Given the description of an element on the screen output the (x, y) to click on. 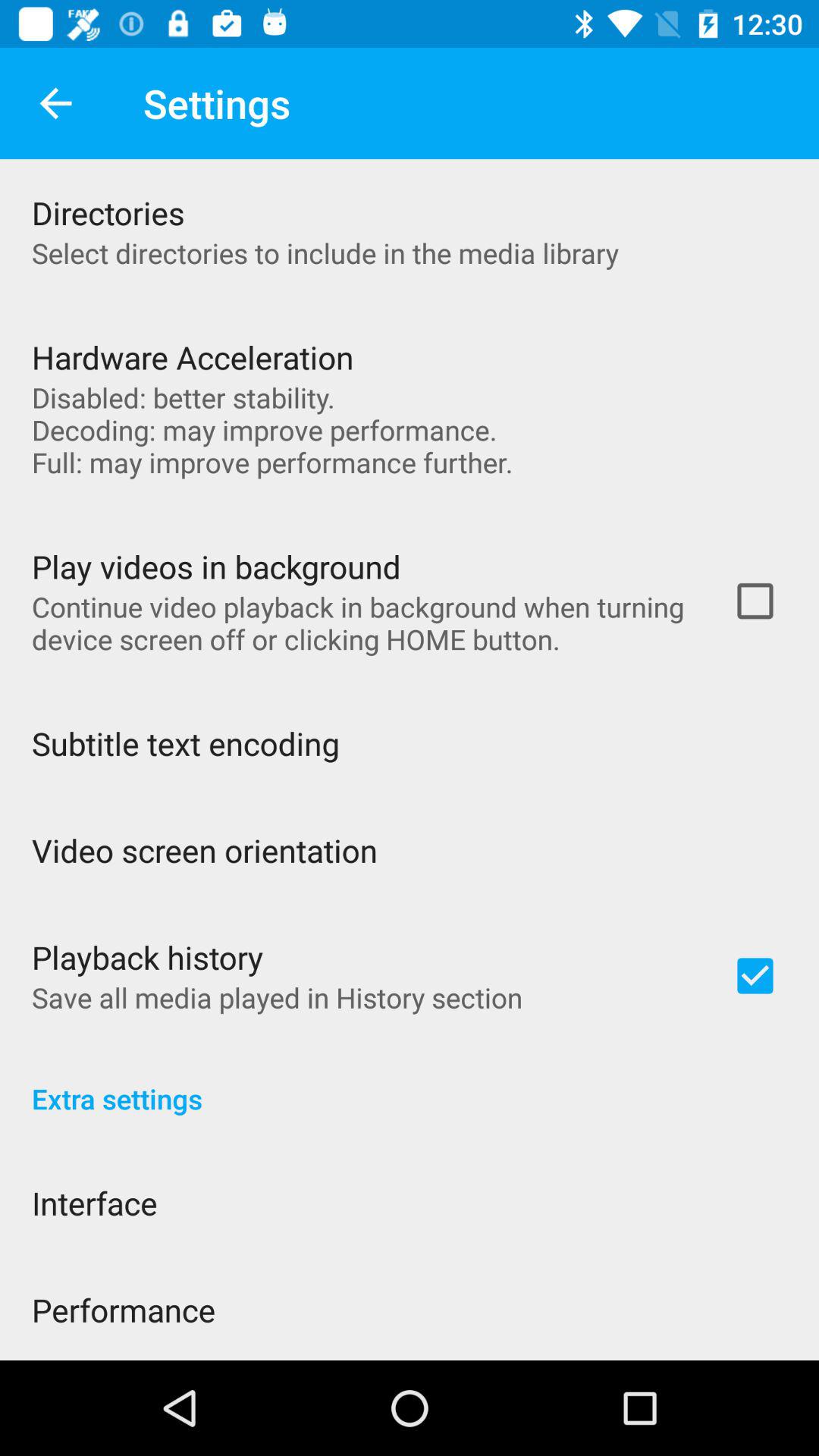
open the icon above the directories icon (55, 103)
